Given the description of an element on the screen output the (x, y) to click on. 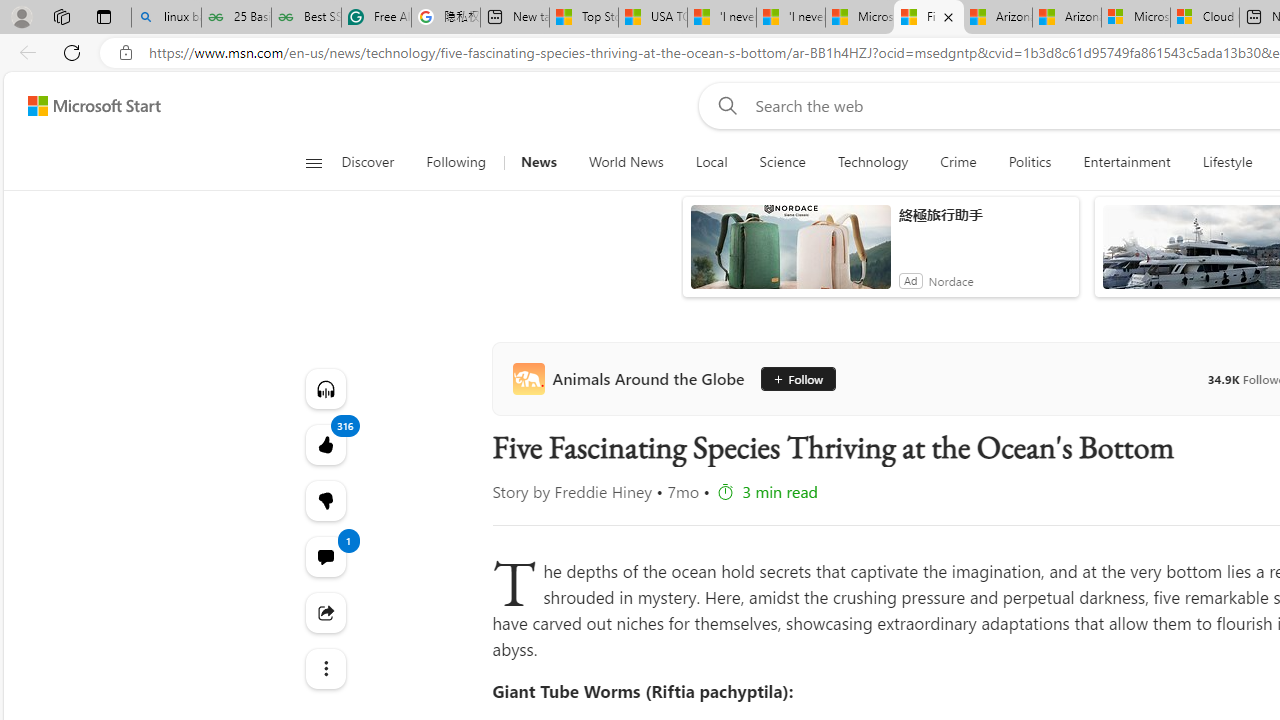
25 Basic Linux Commands For Beginners - GeeksforGeeks (236, 17)
View comments 1 Comment (324, 556)
Open navigation menu (313, 162)
World News (625, 162)
Best SSL Certificates Provider in India - GeeksforGeeks (305, 17)
Microsoft Services Agreement (1135, 17)
Listen to this article (324, 388)
Local (711, 162)
